Given the description of an element on the screen output the (x, y) to click on. 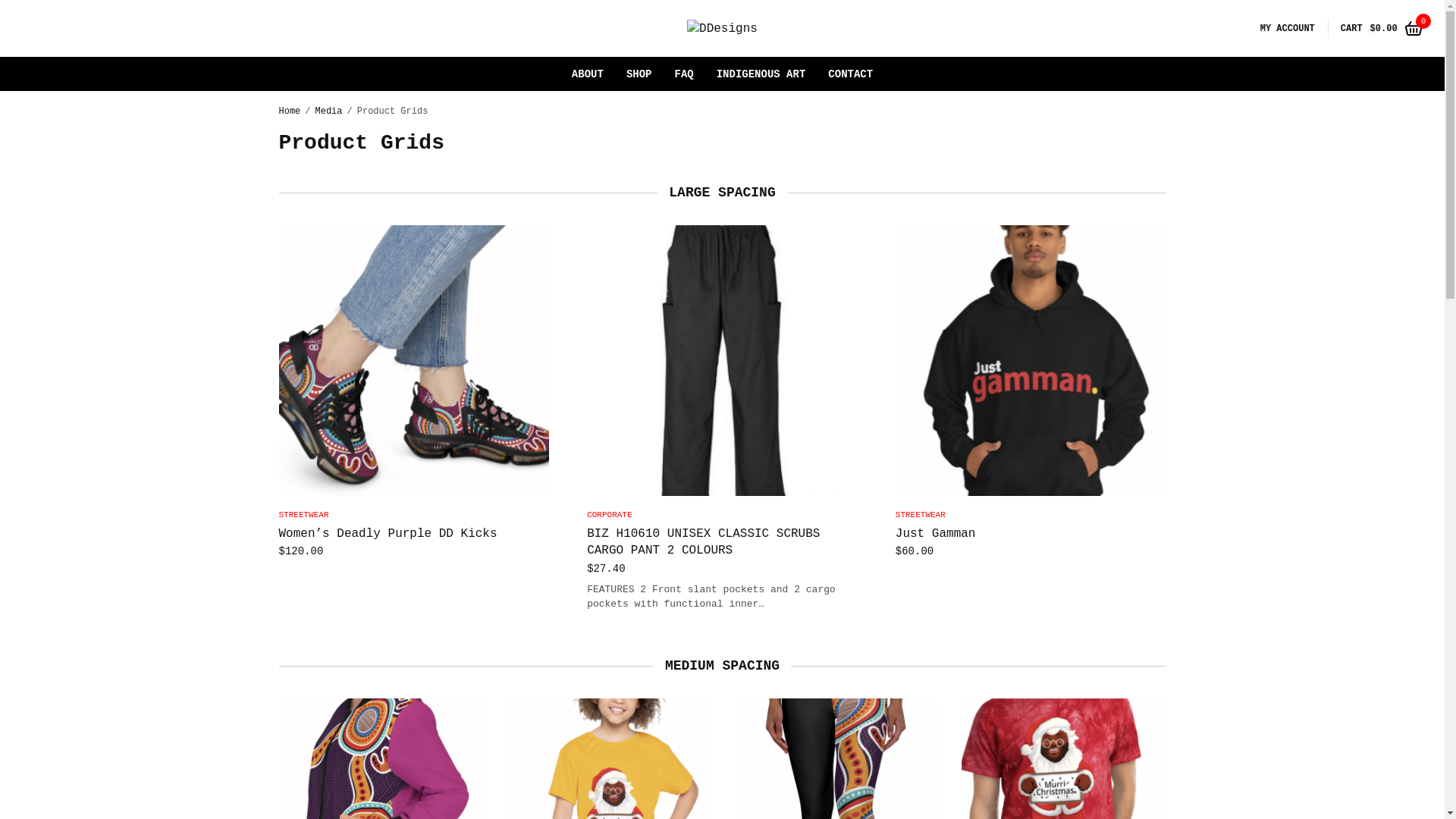
Just Gamman Element type: hover (1030, 360)
Media Element type: text (328, 111)
CART Element type: text (1351, 28)
MY ACCOUNT Element type: text (1287, 28)
BIZ H10610 UNISEX CLASSIC SCRUBS CARGO PANT 2 COLOURS Element type: text (702, 542)
BIZ H10610 UNISEX CLASSIC SCRUBS CARGO PANT 2 COLOURS Element type: hover (721, 360)
STREETWEAR Element type: text (920, 514)
SHOP Element type: text (639, 73)
ABOUT Element type: text (587, 73)
STREETWEAR Element type: text (304, 514)
INDIGENOUS ART Element type: text (761, 73)
Just Gamman Element type: text (935, 533)
DDesigns Element type: hover (722, 28)
CONTACT Element type: text (850, 73)
Home Element type: text (290, 111)
FAQ Element type: text (683, 73)
CORPORATE Element type: text (608, 514)
